Given the description of an element on the screen output the (x, y) to click on. 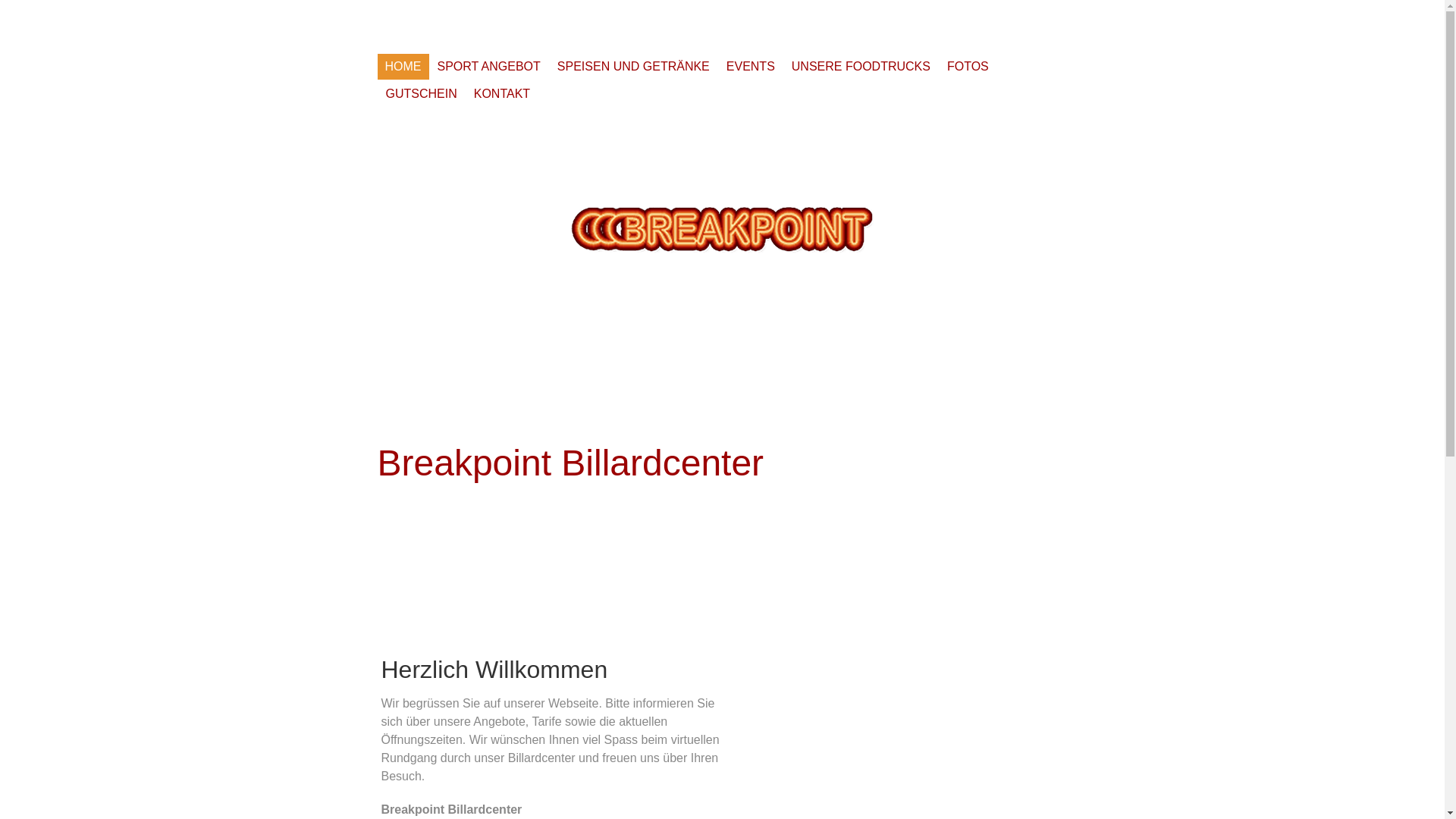
SPORT ANGEBOT Element type: text (489, 66)
HOME Element type: text (403, 66)
FOTOS Element type: text (967, 66)
KONTAKT Element type: text (501, 93)
UNSERE FOODTRUCKS Element type: text (860, 66)
GUTSCHEIN Element type: text (421, 93)
EVENTS Element type: text (750, 66)
